Given the description of an element on the screen output the (x, y) to click on. 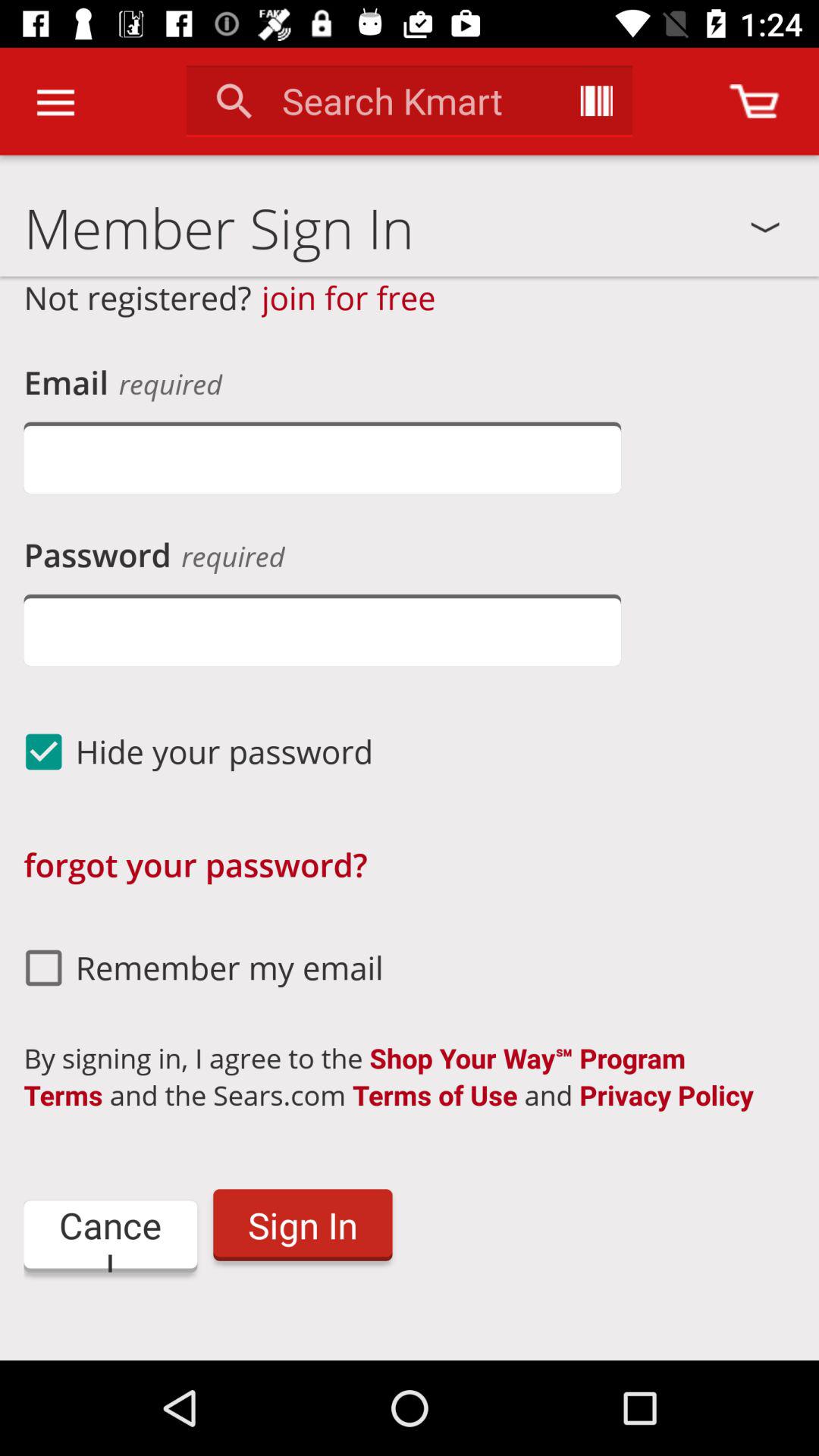
turn on join for free item (348, 297)
